Given the description of an element on the screen output the (x, y) to click on. 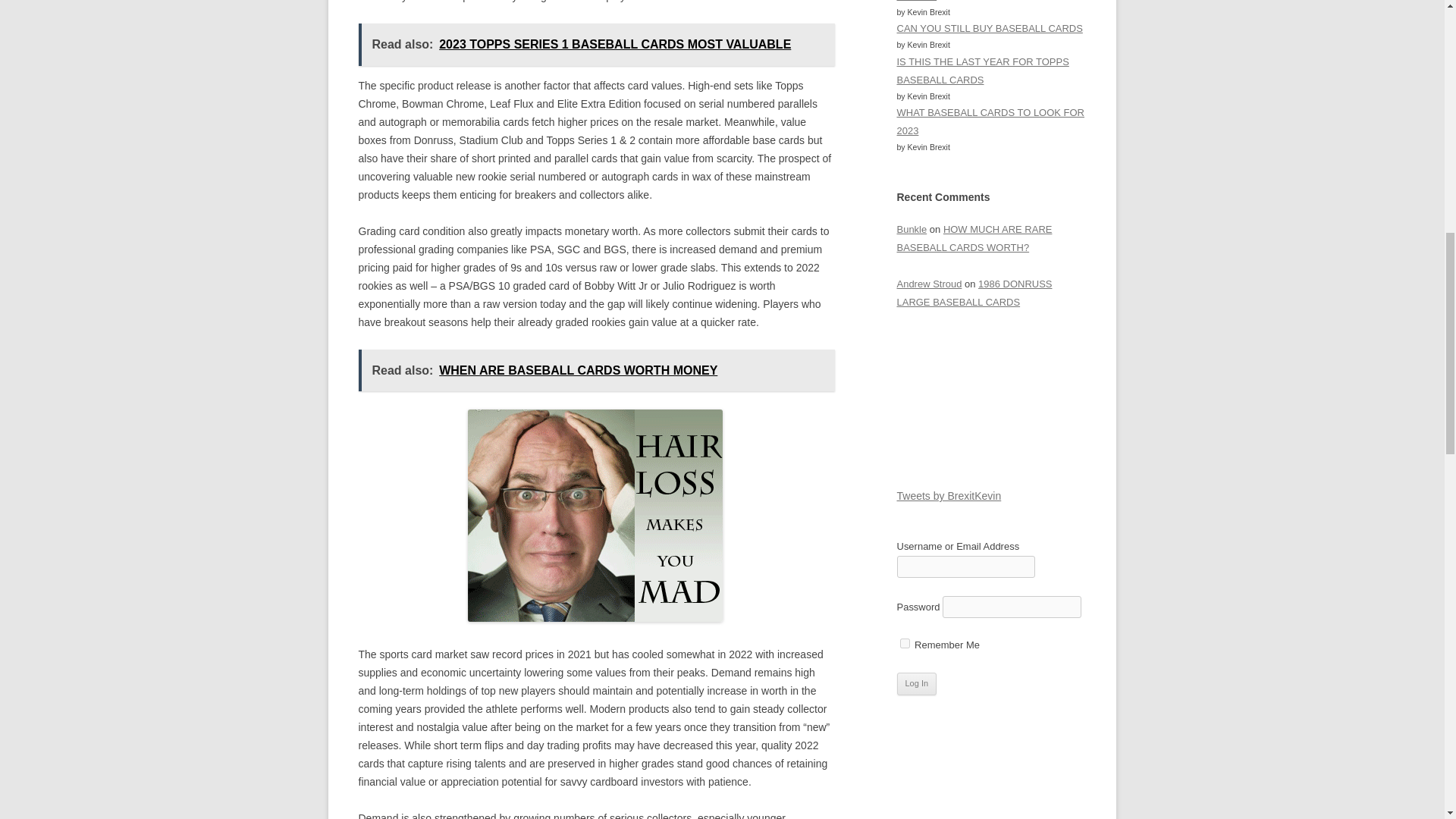
forever (903, 643)
Read also:  WHEN ARE BASEBALL CARDS WORTH MONEY (596, 370)
Log In (916, 683)
Read also:  2023 TOPPS SERIES 1 BASEBALL CARDS MOST VALUABLE (596, 44)
